Given the description of an element on the screen output the (x, y) to click on. 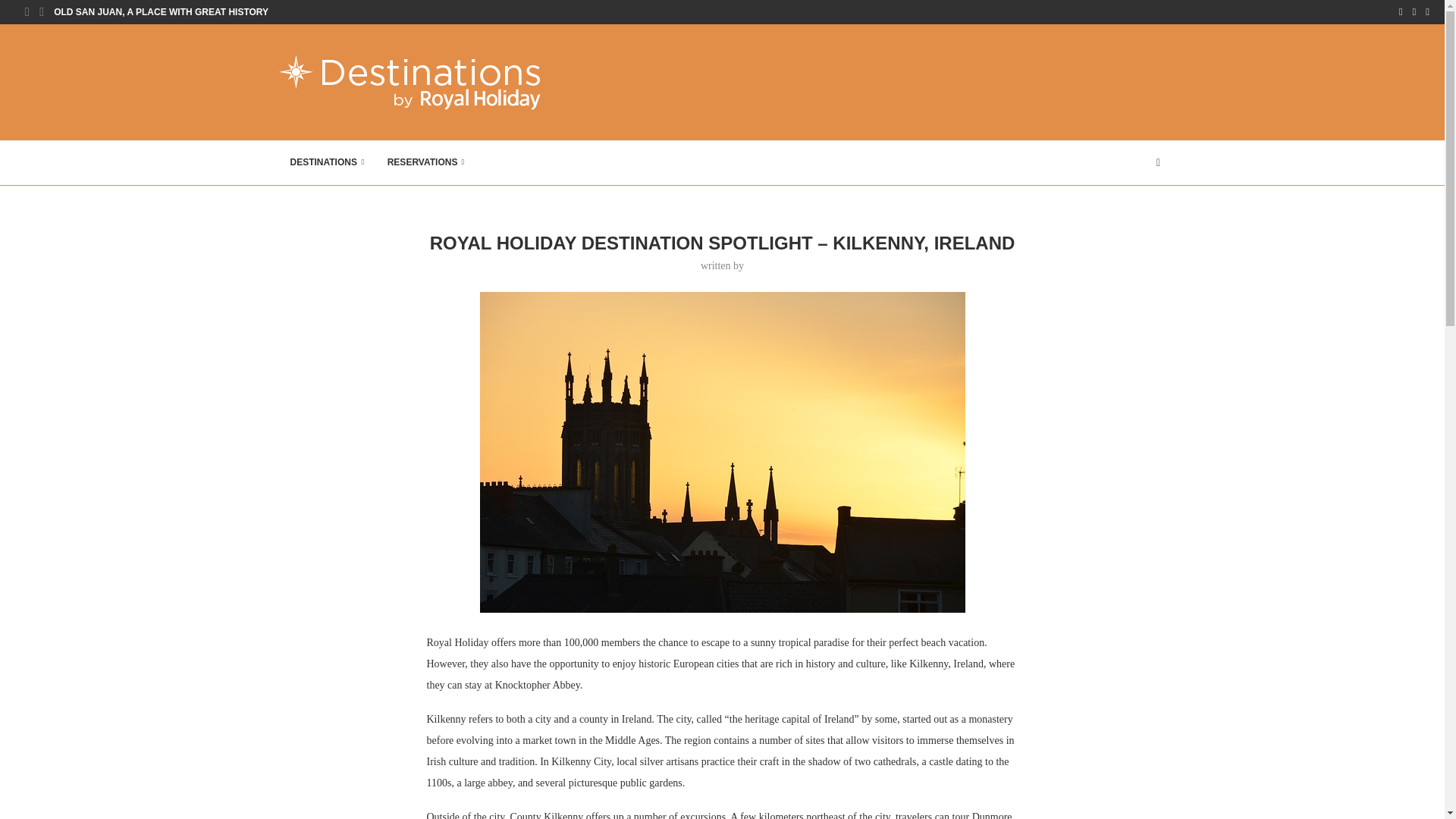
DESTINATIONS (327, 162)
OLD SAN JUAN, A PLACE WITH GREAT HISTORY (160, 12)
